Given the description of an element on the screen output the (x, y) to click on. 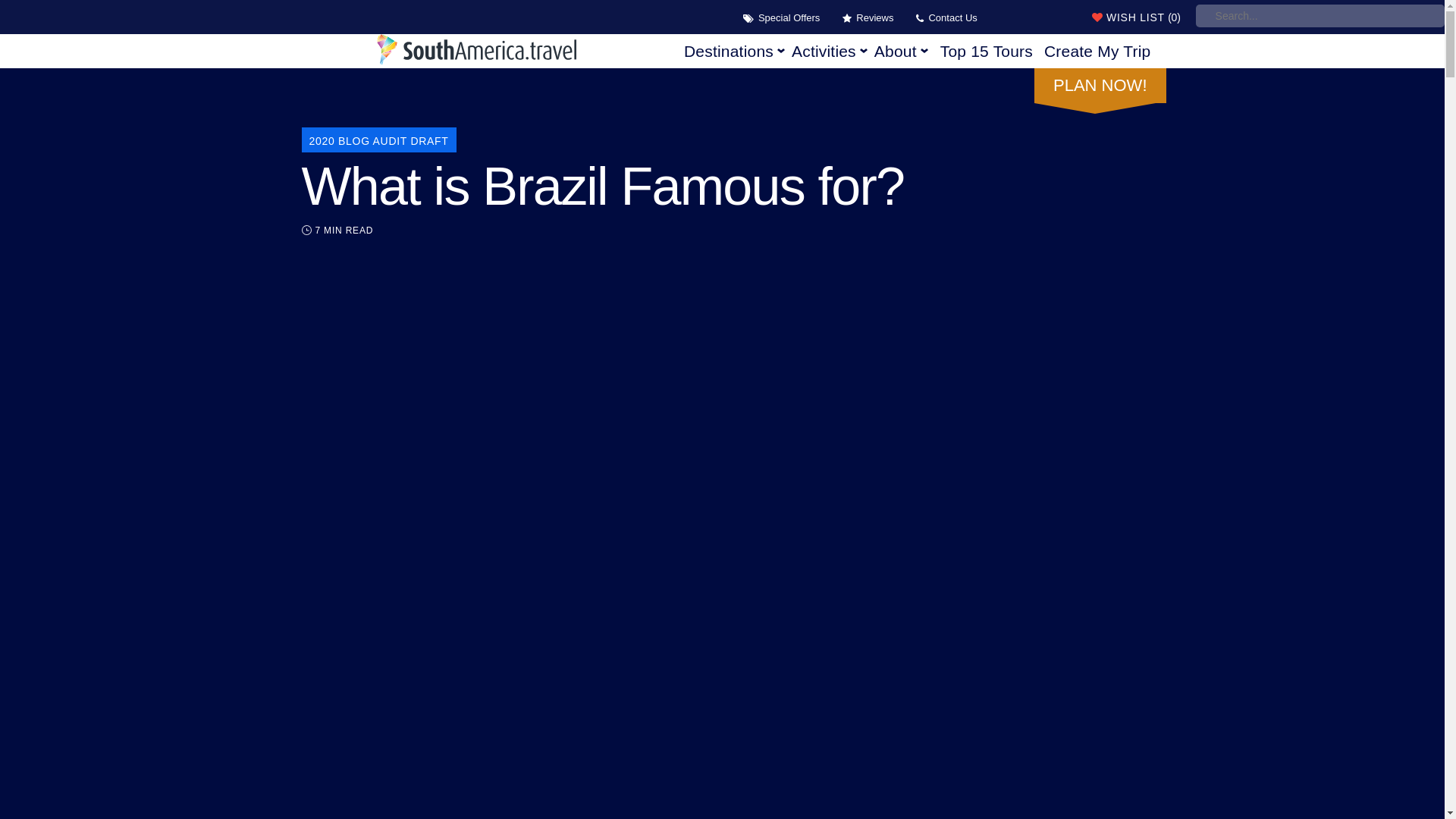
WISH LIST 0 (1087, 16)
Reviews (872, 17)
Special Offers (786, 17)
Destinations (735, 52)
Contact Us (949, 17)
